Given the description of an element on the screen output the (x, y) to click on. 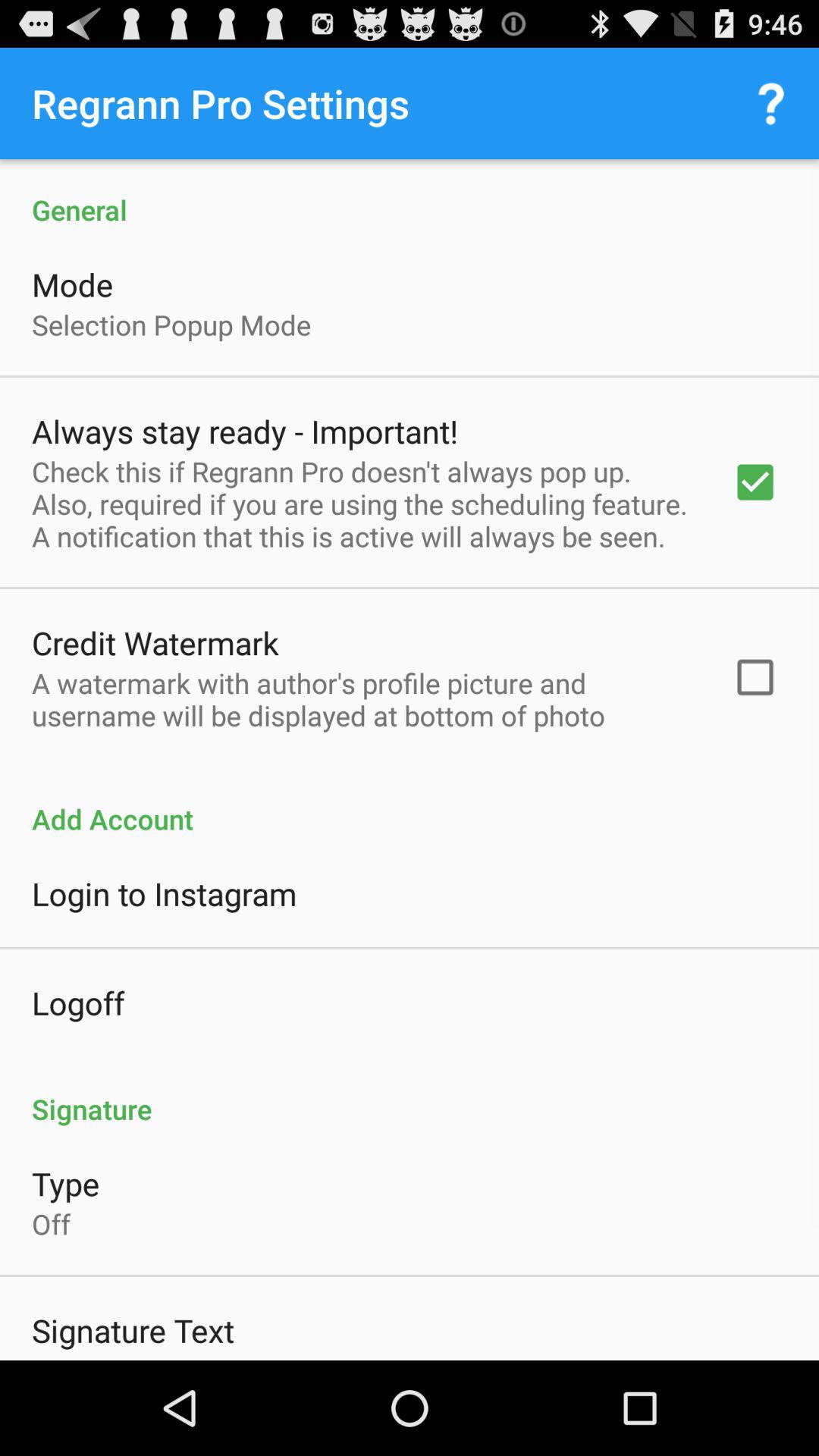
scroll until general (409, 193)
